Given the description of an element on the screen output the (x, y) to click on. 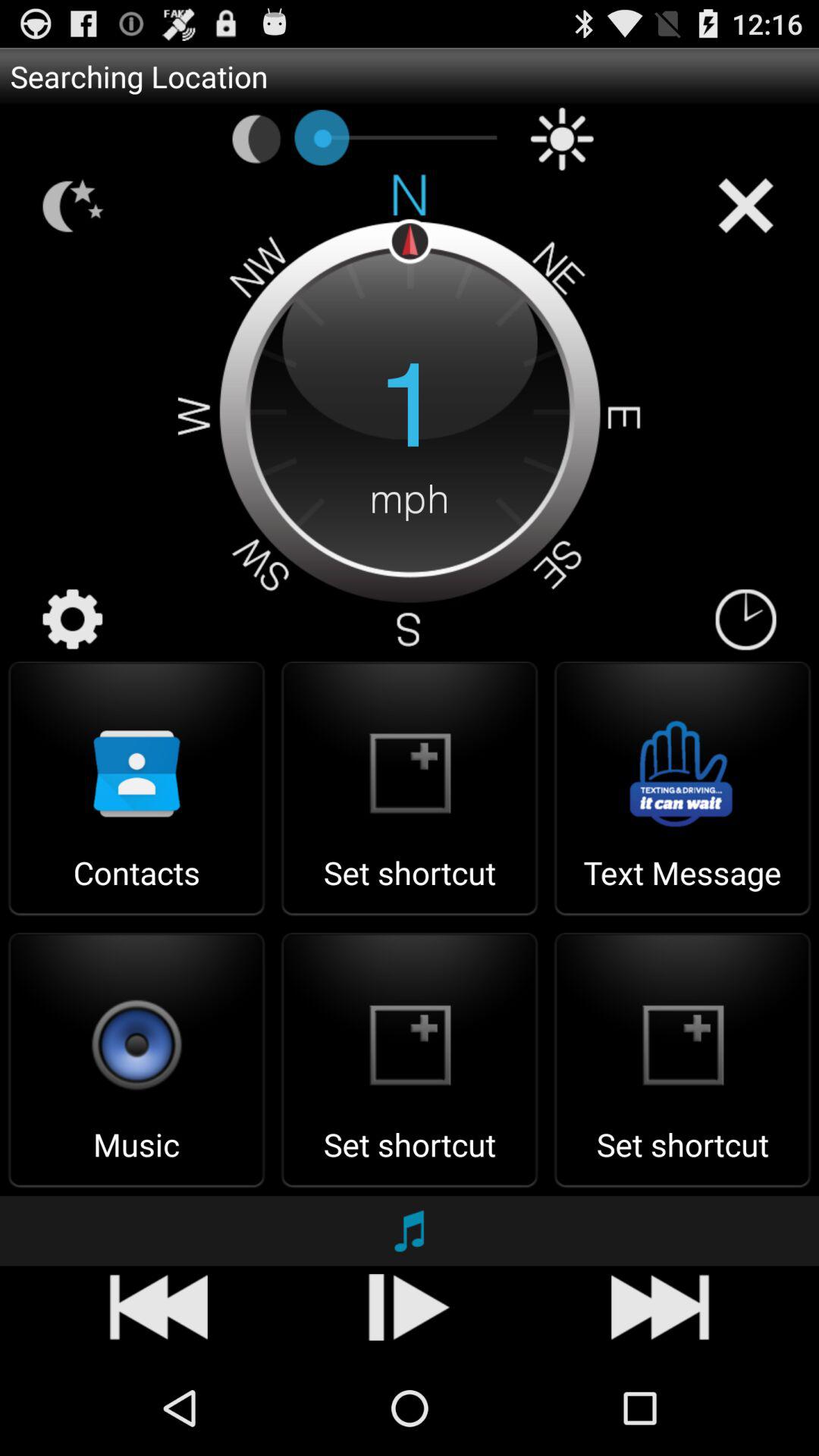
select the set shortcut option below the text message (682, 1059)
click on the setting button at the middle of the page (73, 619)
click on the compass image (409, 410)
click on set shortcut (409, 887)
click on set shortcut (409, 1158)
